Given the description of an element on the screen output the (x, y) to click on. 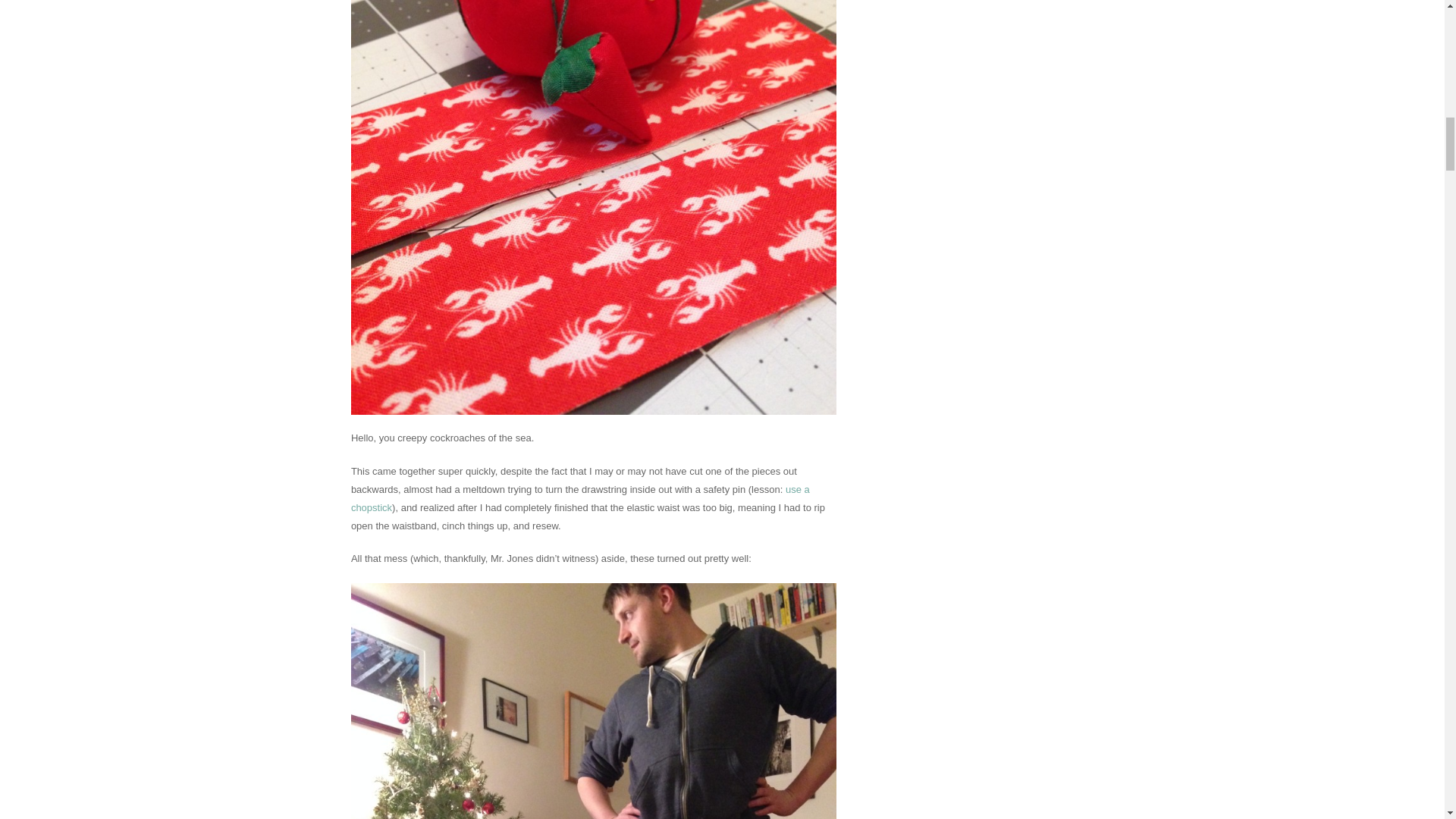
use a chopstick (579, 498)
